Given the description of an element on the screen output the (x, y) to click on. 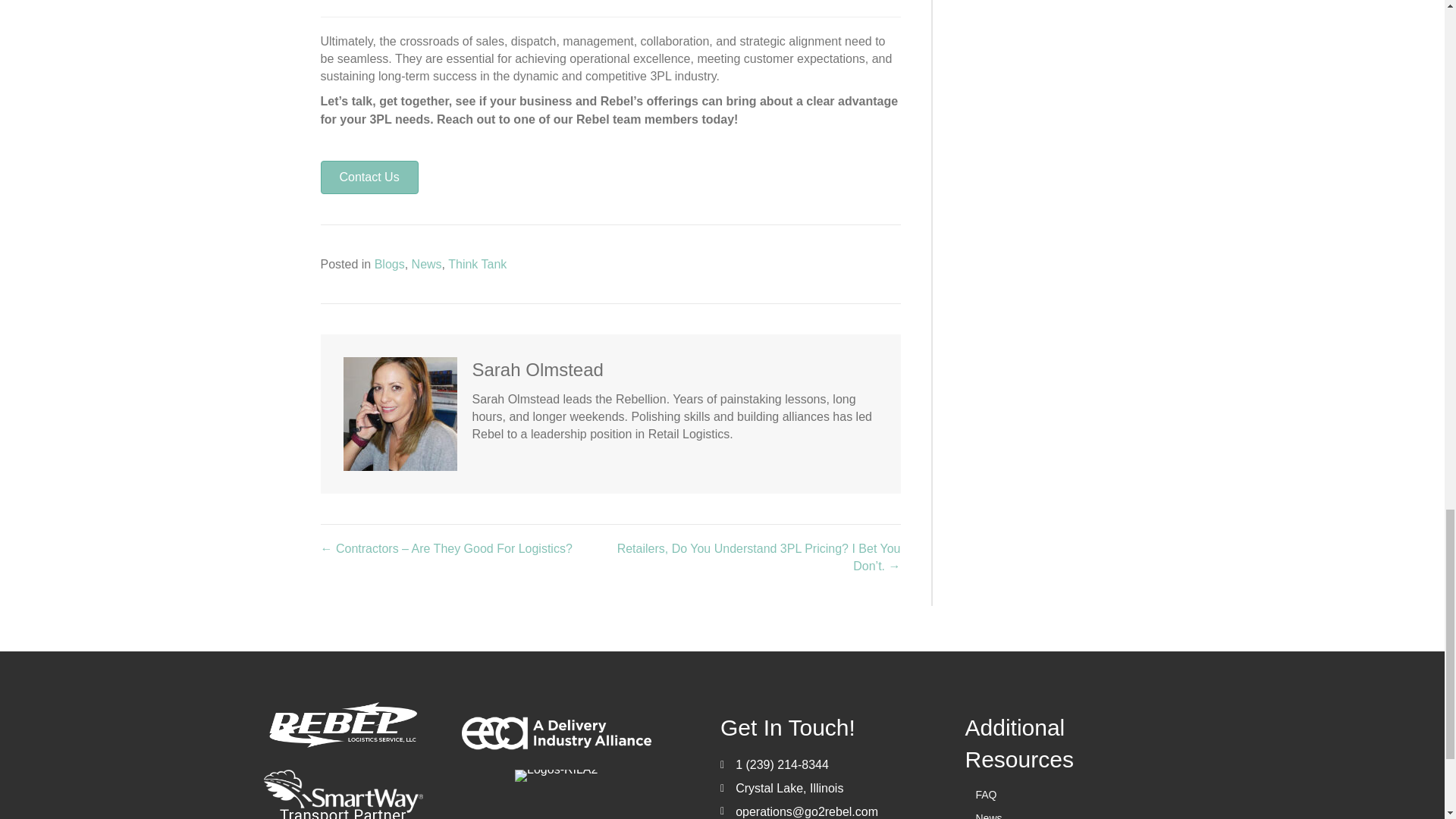
Logos-RILA2 (555, 775)
News (427, 264)
Smartway Logo (343, 794)
Contact Us (368, 177)
Think Tank (477, 264)
Logos-ECA2 (555, 732)
Blogs (389, 264)
Logo-White (343, 725)
